Given the description of an element on the screen output the (x, y) to click on. 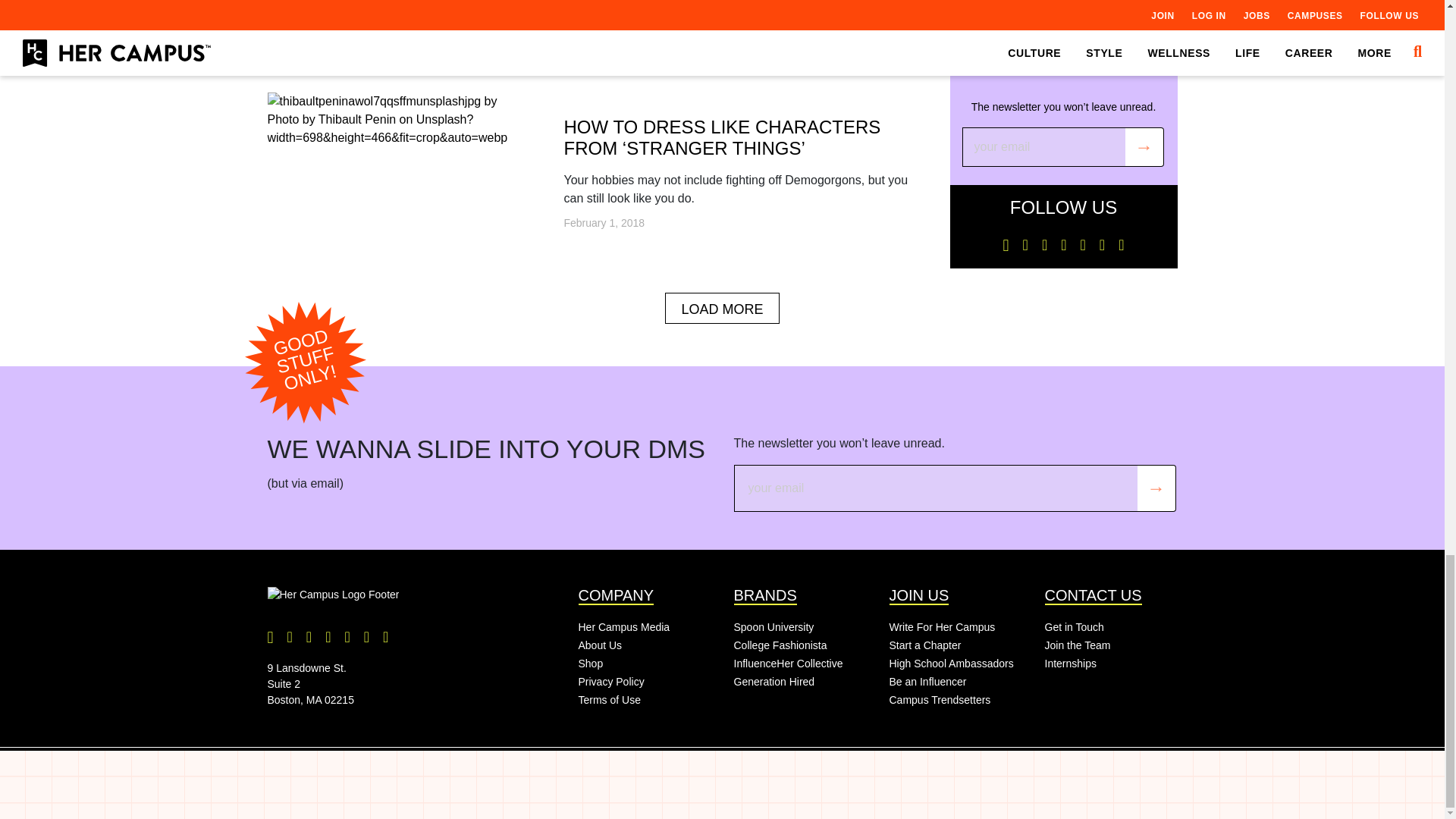
How to Dress Like Characters From 'Stranger Things' 10 (397, 119)
